Given the description of an element on the screen output the (x, y) to click on. 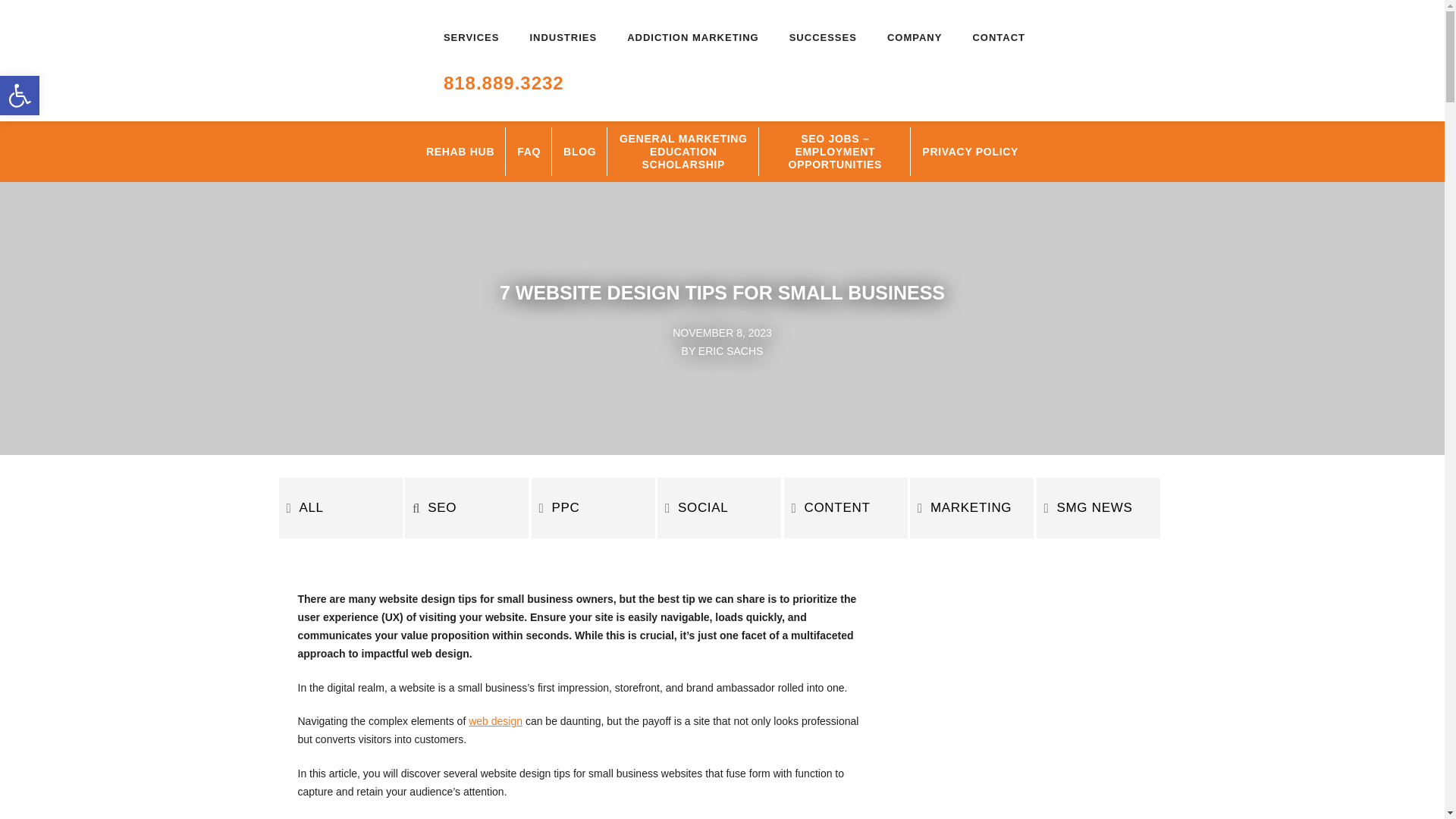
SERVICES (471, 37)
SUCCESSES (823, 37)
SMG NEWS (1096, 507)
SEO (466, 507)
ALL (341, 507)
REHAB HUB (459, 151)
INDUSTRIES (562, 37)
PRIVACY POLICY (970, 151)
COMPANY (914, 37)
MARKETING (971, 507)
